Given the description of an element on the screen output the (x, y) to click on. 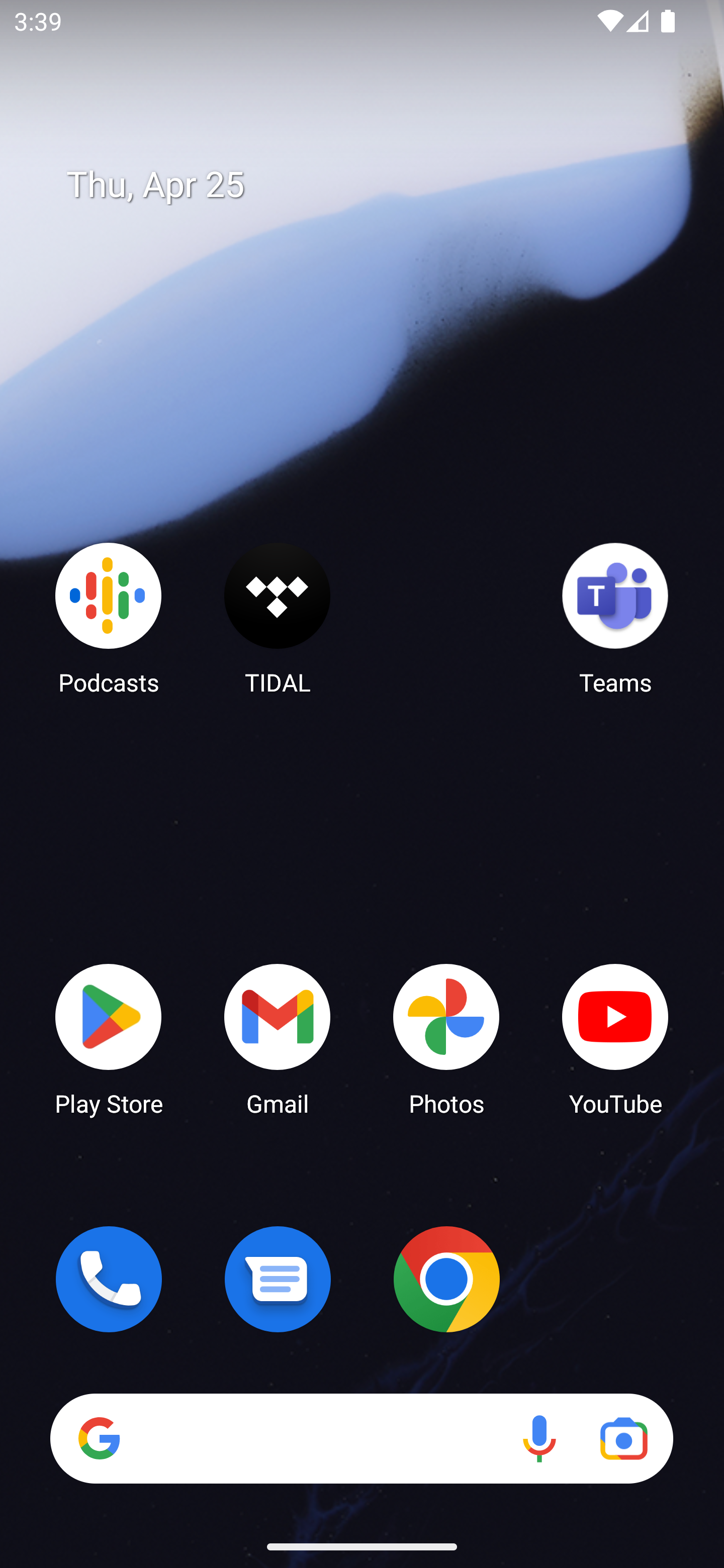
Thu, Apr 25 (375, 184)
Podcasts (108, 617)
TIDAL (277, 617)
Teams (615, 617)
Play Store (108, 1038)
Gmail (277, 1038)
Photos (445, 1038)
YouTube (615, 1038)
Phone (108, 1279)
Messages (277, 1279)
Chrome (446, 1279)
Search Voice search Google Lens (361, 1438)
Voice search (539, 1438)
Google Lens (623, 1438)
